Given the description of an element on the screen output the (x, y) to click on. 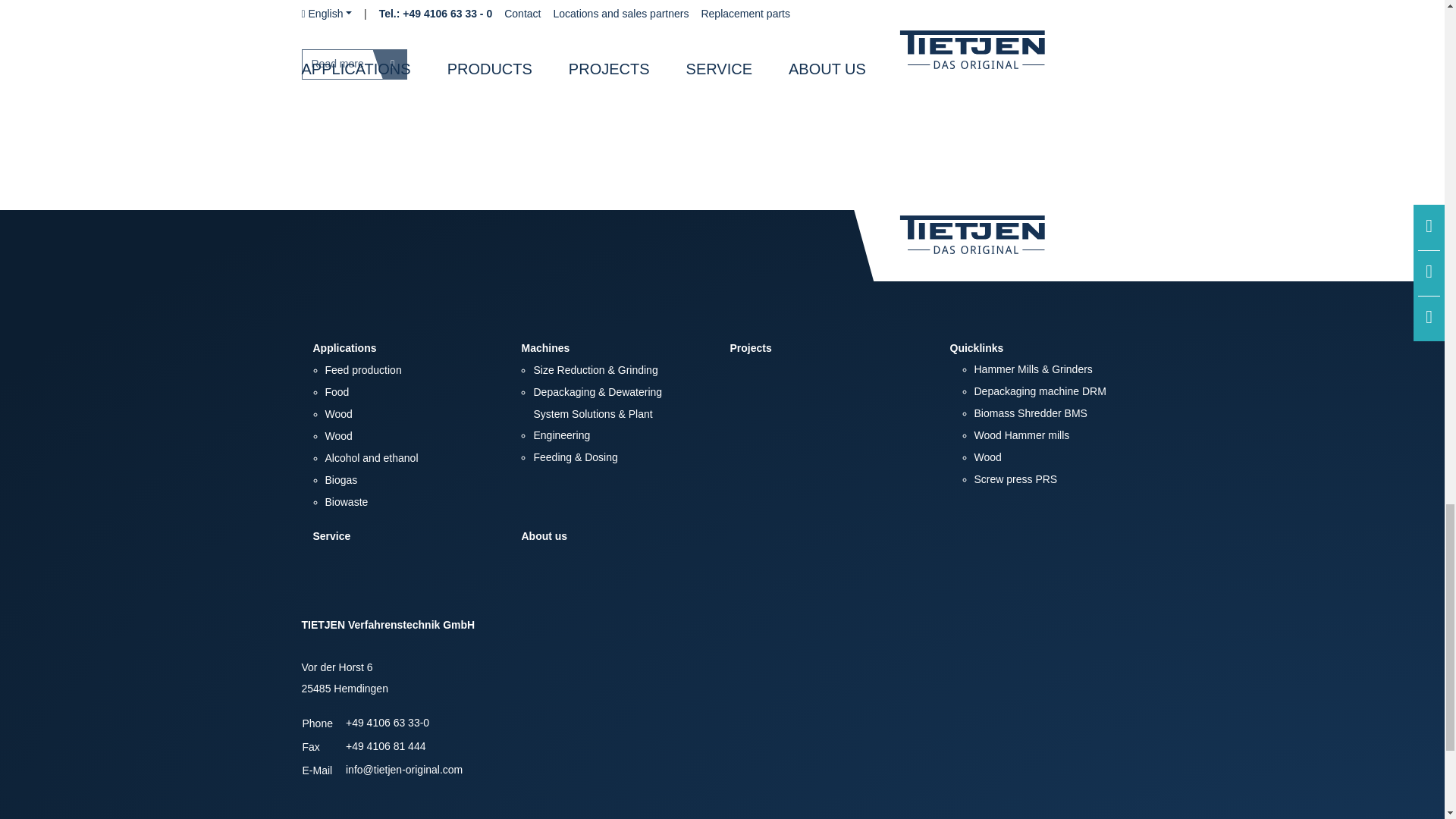
Startseite (1000, 244)
